Given the description of an element on the screen output the (x, y) to click on. 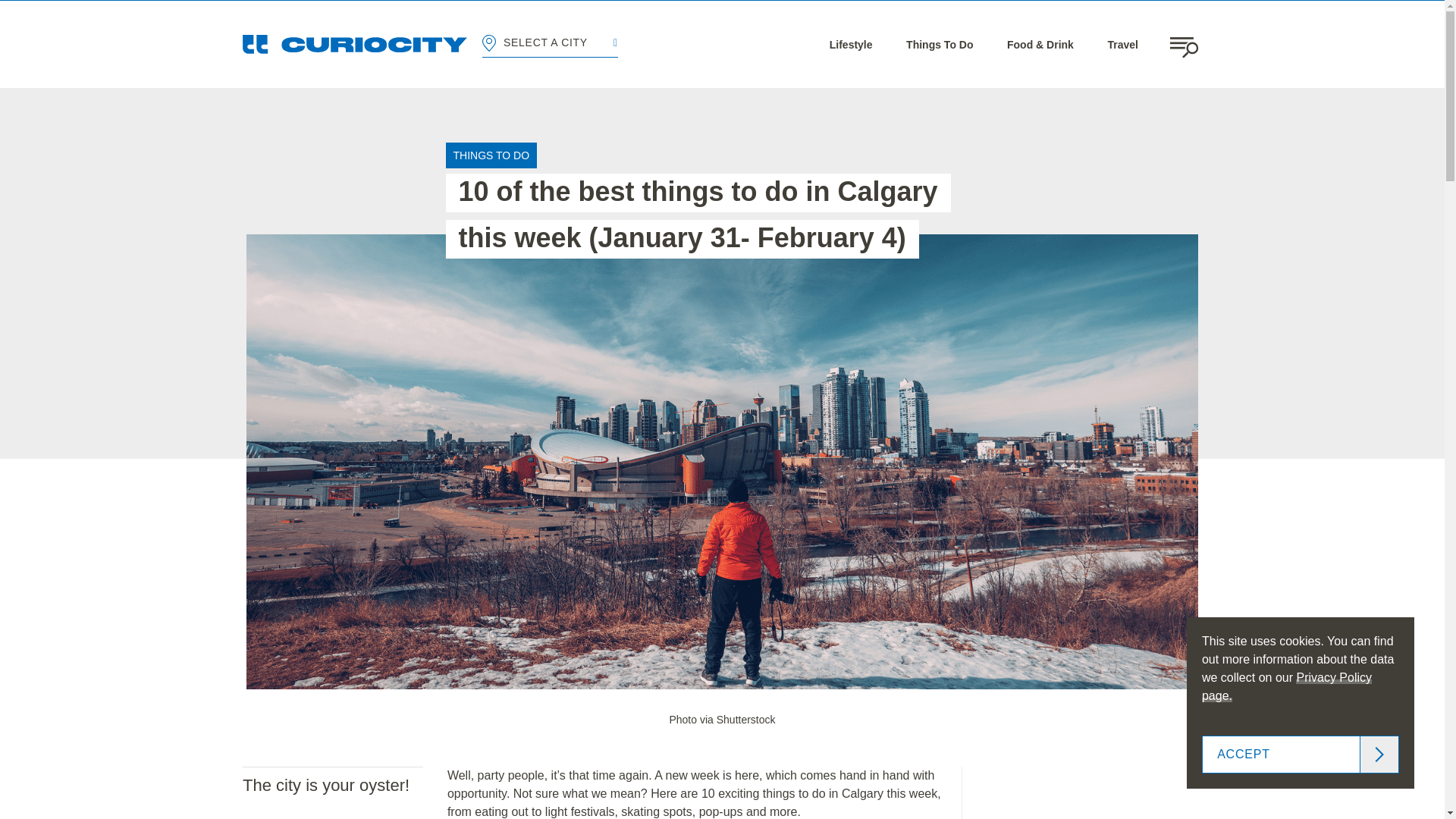
Privacy Policy page. (1286, 685)
goes to Home (355, 43)
Travel (1121, 44)
ACCEPT (1300, 754)
Lifestyle (850, 44)
SELECT A CITY (549, 44)
Things To Do (938, 44)
